Given the description of an element on the screen output the (x, y) to click on. 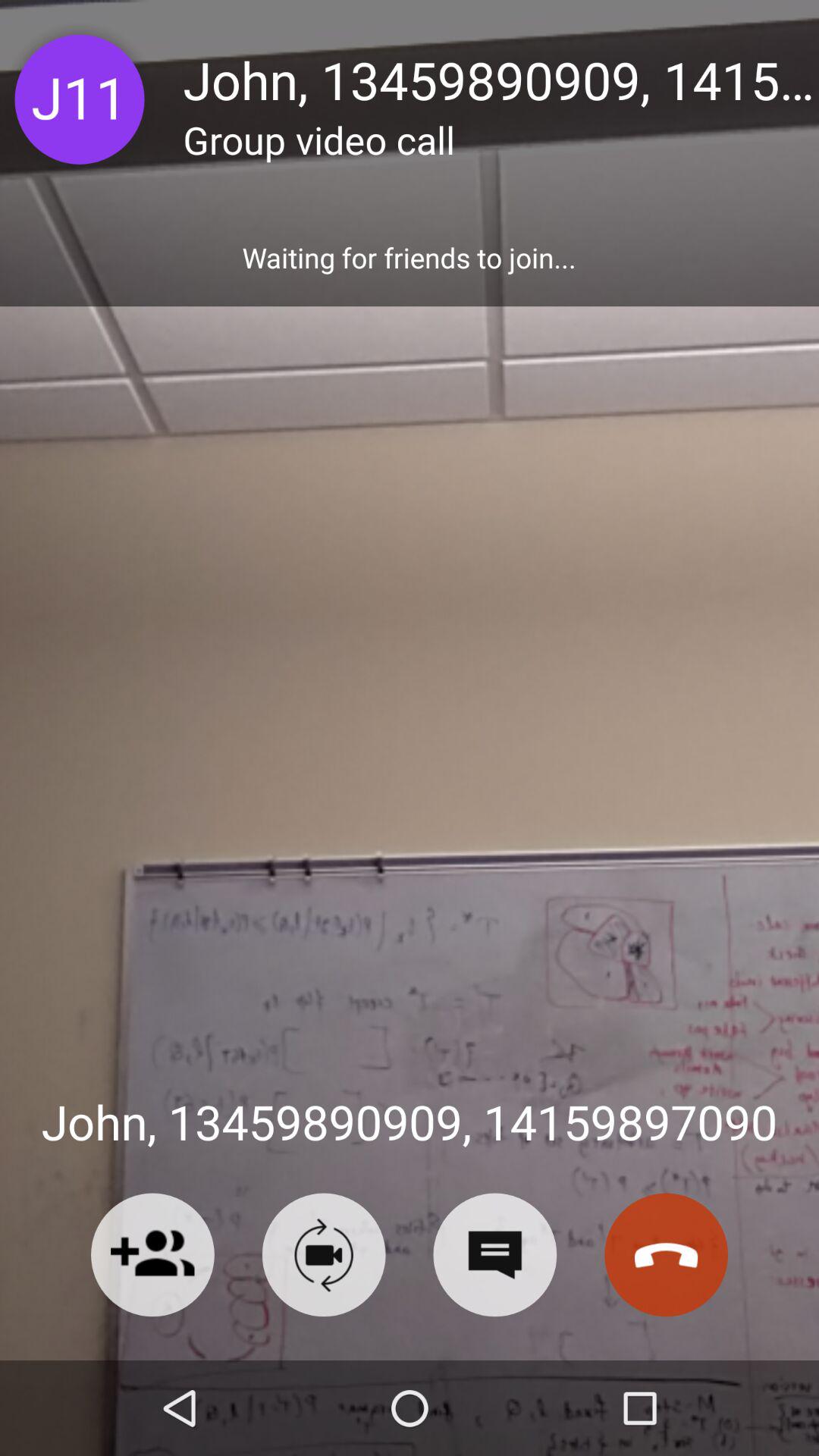
text message (494, 1254)
